Given the description of an element on the screen output the (x, y) to click on. 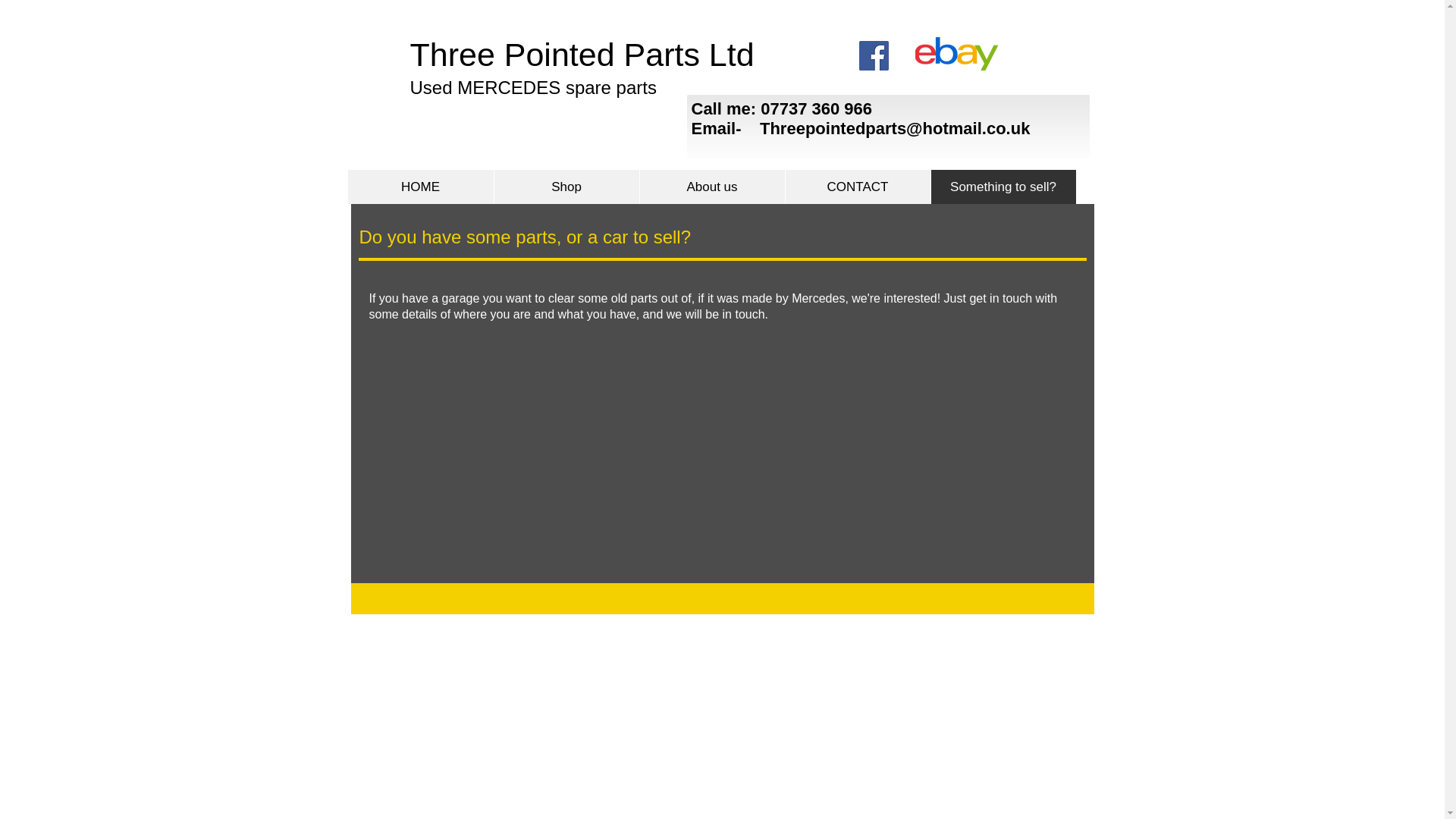
Something to sell? (1002, 186)
About us (711, 186)
CONTACT (857, 186)
Shop (566, 186)
Used MERCEDES spare parts (532, 86)
HOME (420, 186)
